Given the description of an element on the screen output the (x, y) to click on. 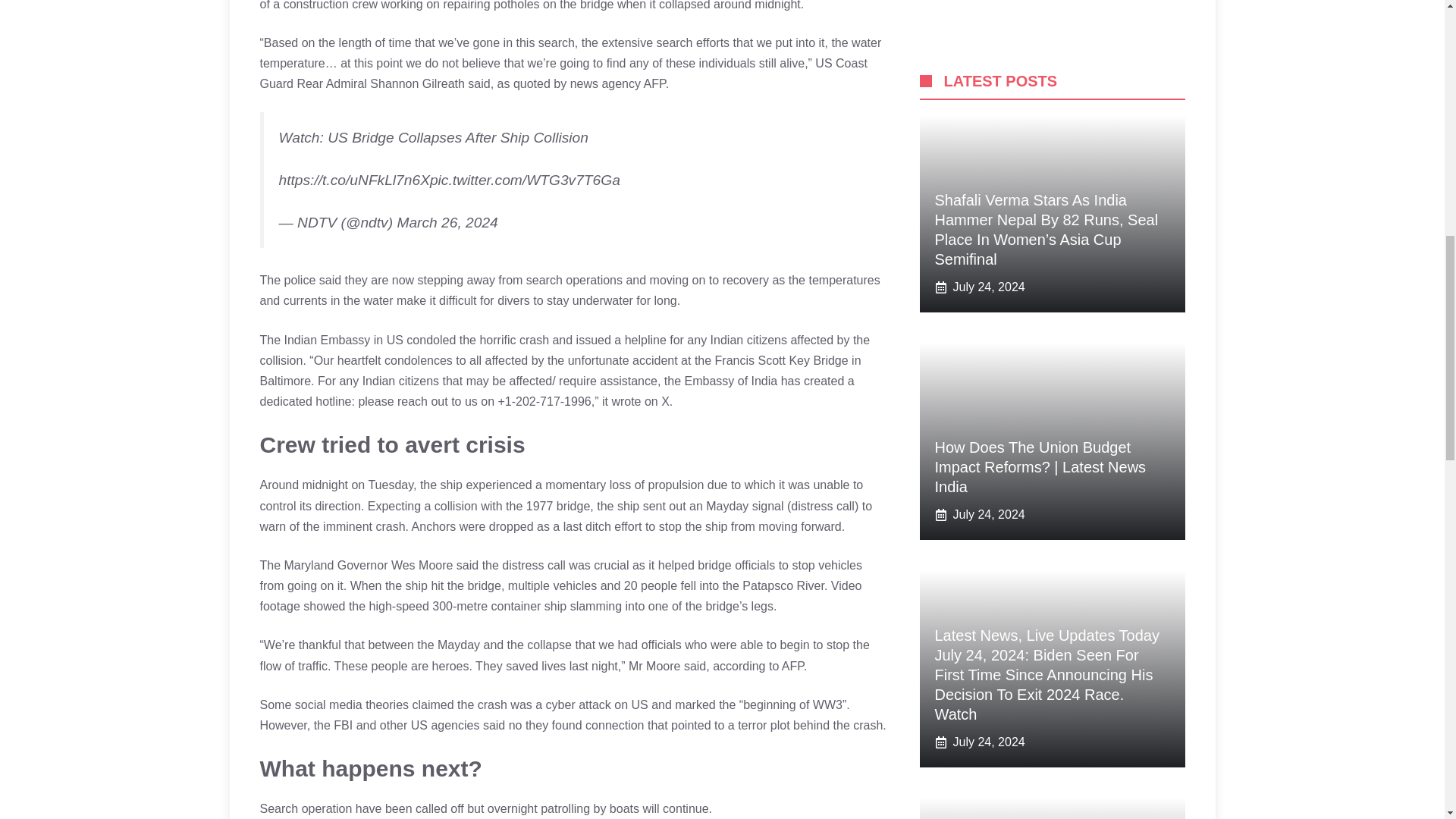
theories (388, 704)
March 26, 2024 (446, 222)
